Given the description of an element on the screen output the (x, y) to click on. 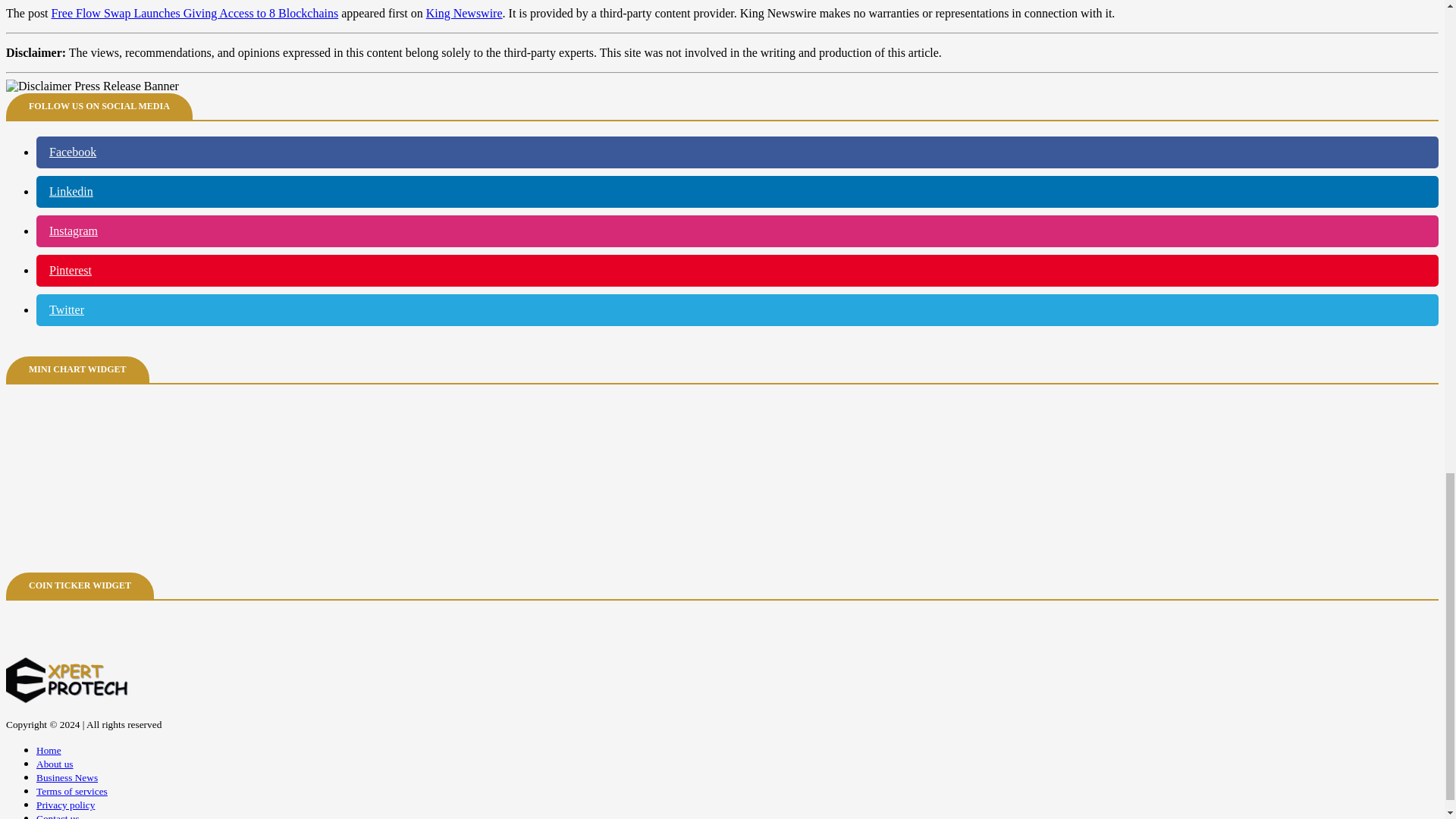
Business News (66, 776)
Privacy policy (65, 803)
King Newswire (464, 12)
Free Flow Swap Launches Giving Access to 8 Blockchains (194, 12)
Terms of services (71, 789)
Home (48, 748)
About us (55, 762)
